Given the description of an element on the screen output the (x, y) to click on. 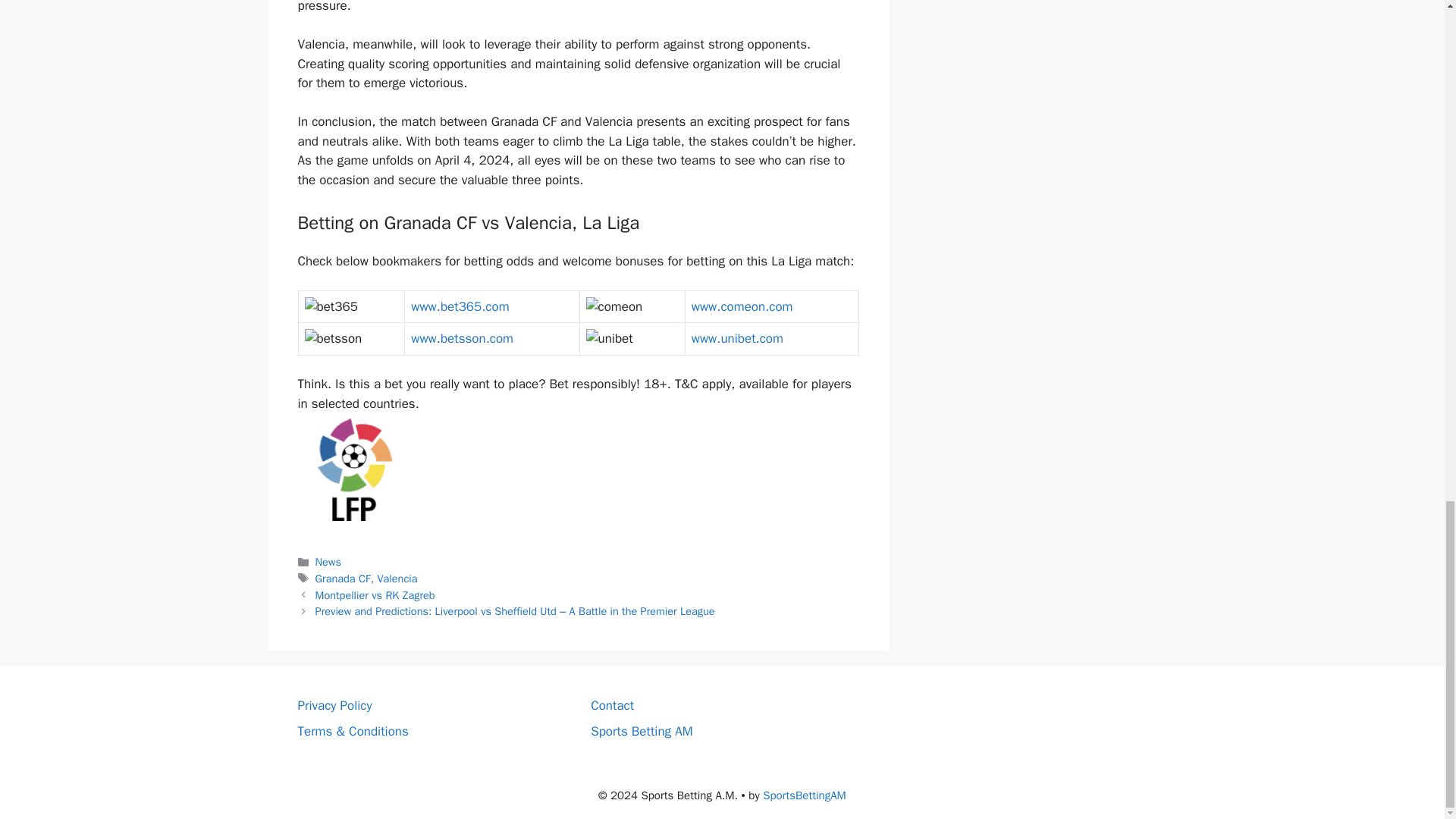
www.comeon.com (742, 306)
Montpellier vs RK Zagreb (375, 594)
News (327, 561)
www.betsson.com (461, 338)
www.bet365.com (459, 306)
Granada CF (343, 578)
Valencia (397, 578)
www.unibet.com (737, 338)
